Given the description of an element on the screen output the (x, y) to click on. 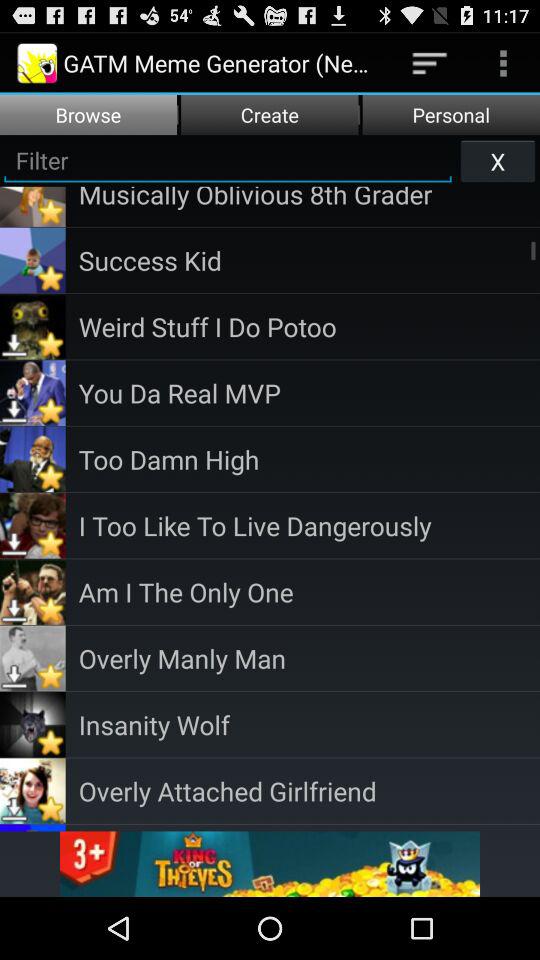
select item above musically oblivious 8th app (498, 160)
